Given the description of an element on the screen output the (x, y) to click on. 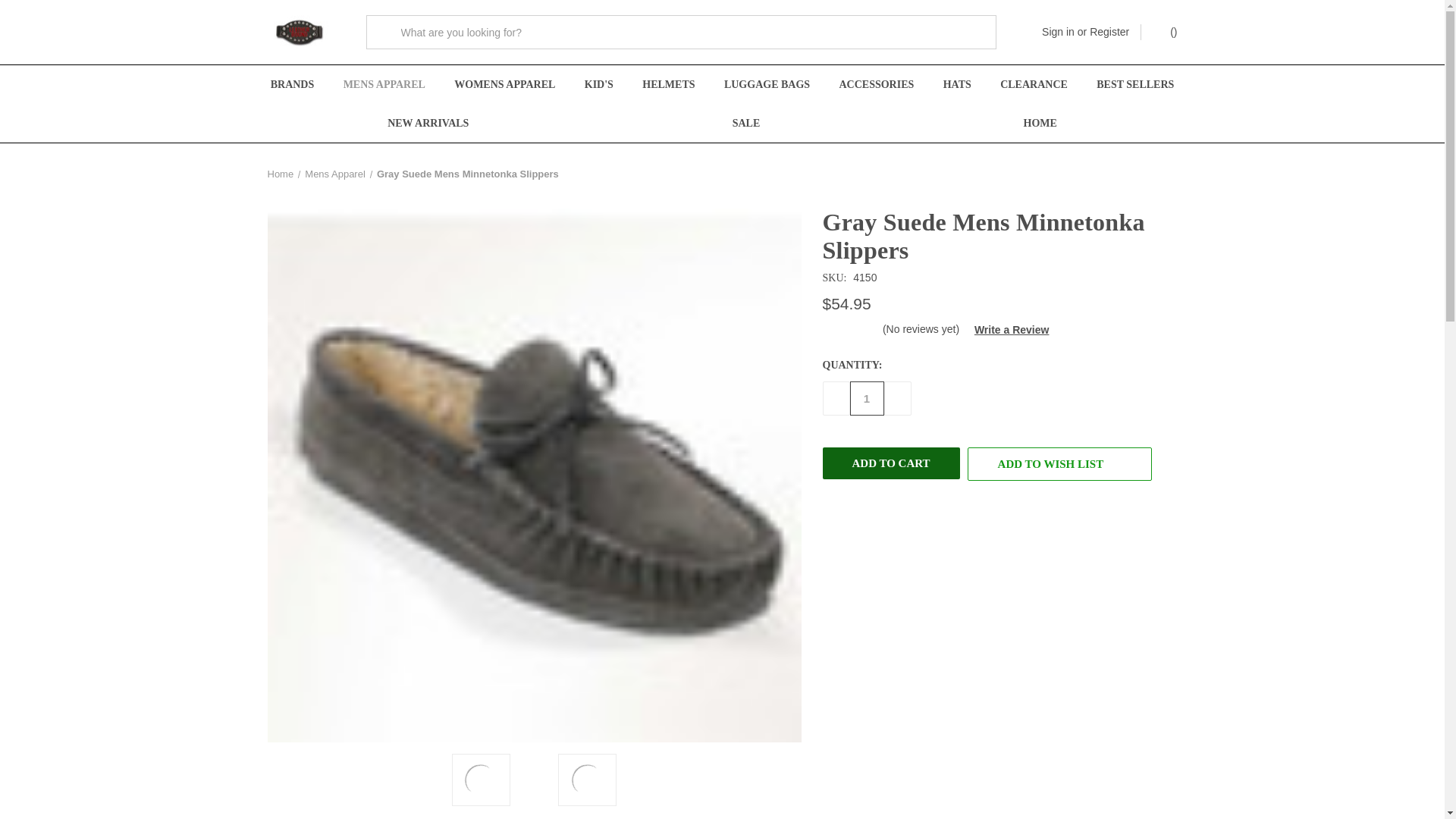
Men's Minnetonka Slippers: Casey Moccasins, Charcoal Gray (480, 780)
Leather Bound (298, 32)
Gray Suede Mens Minnetonka Slippers (588, 780)
BRANDS (292, 84)
Sign in (1058, 32)
Add to Cart (890, 463)
Register (1109, 32)
1 (865, 398)
